Given the description of an element on the screen output the (x, y) to click on. 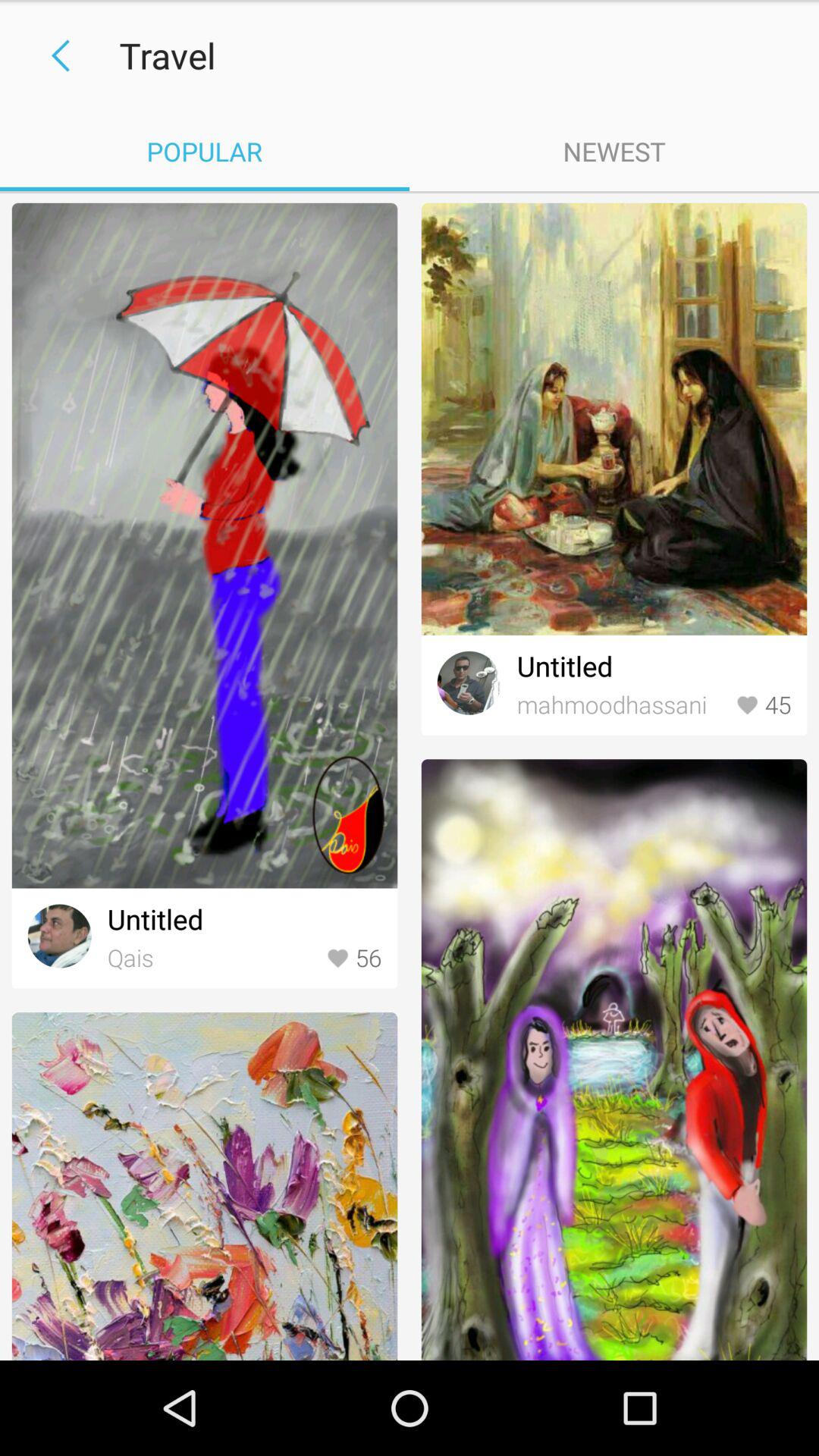
tap the qais (213, 958)
